Given the description of an element on the screen output the (x, y) to click on. 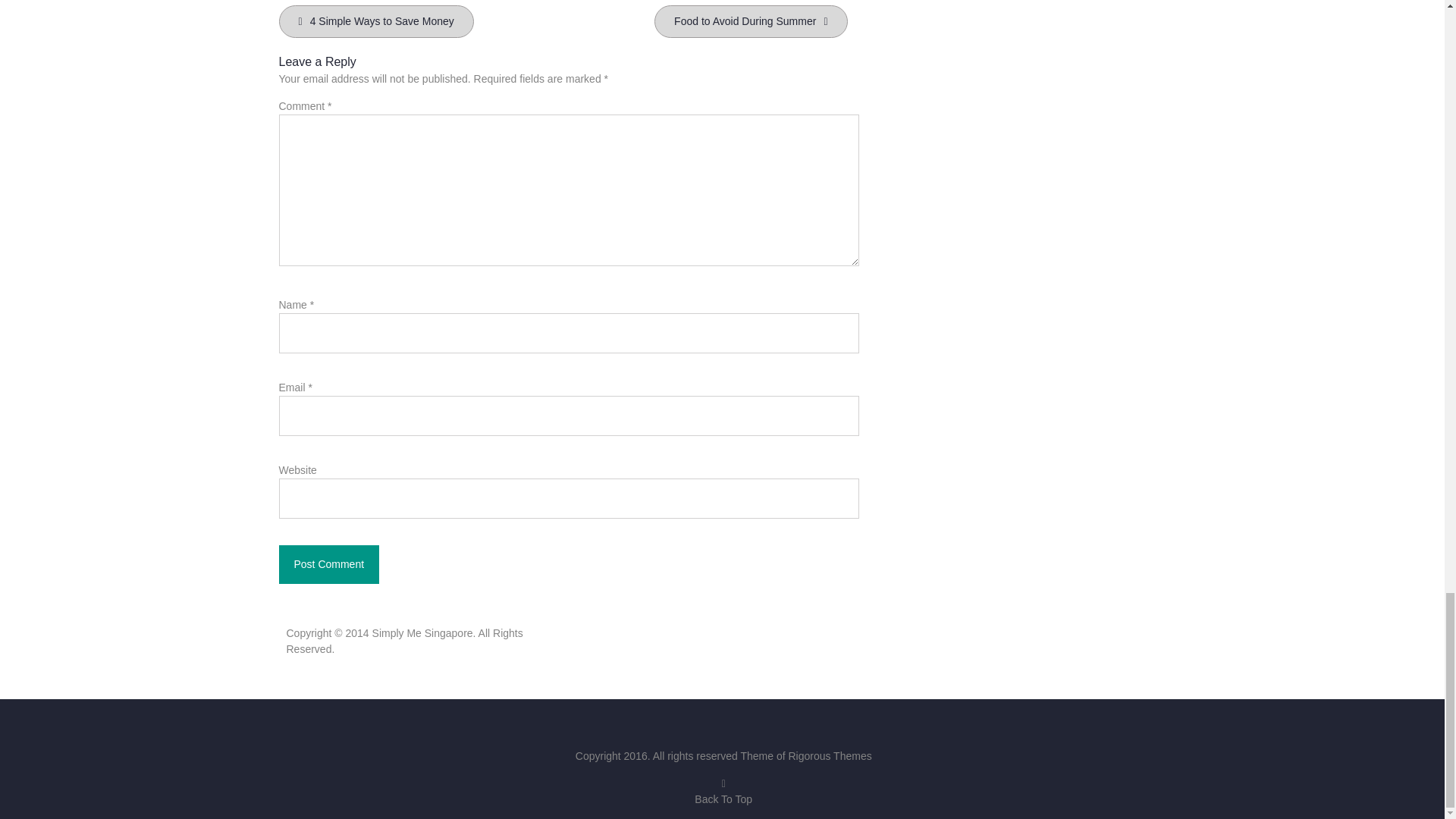
Back To Top (723, 791)
4 Simple Ways to Save Money (376, 20)
Food to Avoid During Summer (750, 20)
Post Comment (329, 564)
Rigorous Themes (828, 756)
Post Comment (329, 564)
